Given the description of an element on the screen output the (x, y) to click on. 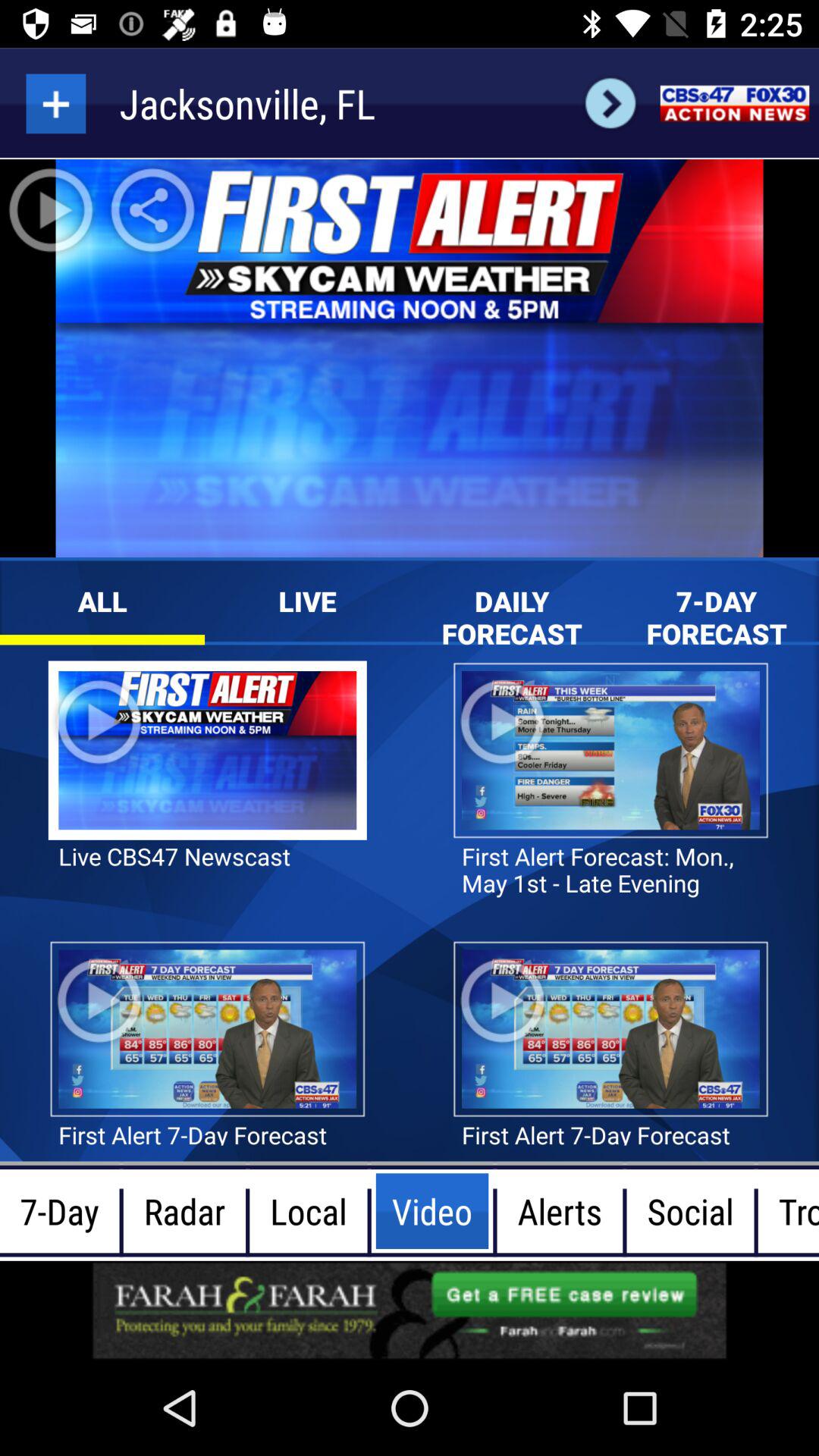
add button (55, 103)
